Given the description of an element on the screen output the (x, y) to click on. 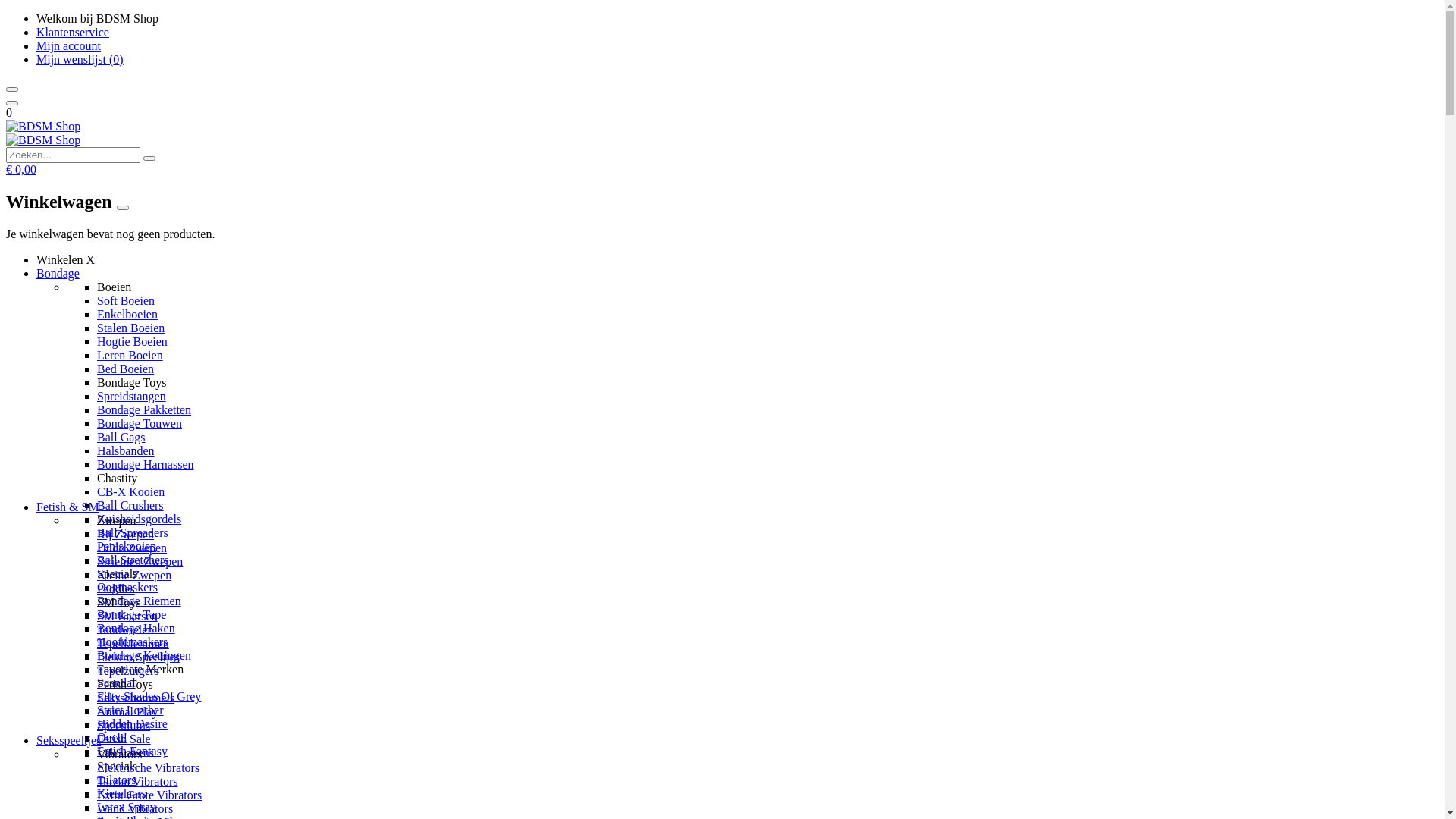
Scandal Element type: text (116, 682)
Tarzan Vibrators Element type: text (137, 781)
Rij Zwepen Element type: text (125, 533)
Ball Crushers Element type: text (130, 504)
Fifty Shades Of Grey Element type: text (148, 696)
Klantenservice Element type: text (72, 31)
Kuisheidsgordels Element type: text (139, 518)
Lak Lakens Element type: text (125, 752)
Fetish Fantasy Element type: text (132, 750)
Oogmaskers Element type: text (127, 586)
Spreidstangen Element type: text (131, 395)
Hogtie Boeien Element type: text (132, 341)
Ball Gags Element type: text (121, 436)
Soft Boeien Element type: text (125, 300)
Hoofdmaskers Element type: text (132, 641)
Animal Play Element type: text (127, 711)
Speculums Element type: text (123, 724)
Tandwielen Element type: text (125, 629)
Halsbanden Element type: text (125, 450)
Enkelboeien Element type: text (127, 313)
Seksspeeltjes Element type: text (68, 740)
Mijn account Element type: text (68, 45)
Peniskooien Element type: text (126, 545)
Paddles Element type: text (115, 588)
Dildo Zwepen Element type: text (131, 547)
Bondage Harnassen Element type: text (145, 464)
Ball Stretchers Element type: text (133, 559)
Dilators Element type: text (116, 779)
Bondage Riemen Element type: text (139, 600)
Bondage Haken Element type: text (136, 627)
Mijn wenslijst (0) Element type: text (79, 59)
SM Kaarsen Element type: text (127, 615)
Bed Boeien Element type: text (125, 368)
Ouch! Element type: text (112, 737)
Stalen Boeien Element type: text (130, 327)
Tepelklemmen Element type: text (133, 643)
Seksschommels Element type: text (135, 697)
Zoeken Element type: text (149, 158)
Bondage Touwen Element type: text (139, 423)
Latex Spray Element type: text (126, 806)
Bondage Pakketten Element type: text (144, 409)
Wand Vibrators Element type: text (134, 808)
Striemen Zwepen Element type: text (139, 561)
Extra Grote Vibrators Element type: text (149, 794)
Bondage Tape Element type: text (131, 614)
Kietelaars Element type: text (121, 793)
Tepelzuigers Element type: text (128, 670)
Hidden Desire Element type: text (132, 723)
Fetish Sale Element type: text (123, 738)
Elektrische Vibrators Element type: text (148, 767)
Strict Leather Element type: text (130, 709)
Bondage Kettingen Element type: text (144, 655)
Elektro Speeltjes Element type: text (138, 656)
CB-X Kooien Element type: text (130, 491)
Leren Boeien Element type: text (130, 354)
Bondage Element type: text (57, 272)
Ball Spreaders Element type: text (132, 532)
Fetish & SM Element type: text (67, 506)
Kleine Zwepen Element type: text (134, 574)
